Given the description of an element on the screen output the (x, y) to click on. 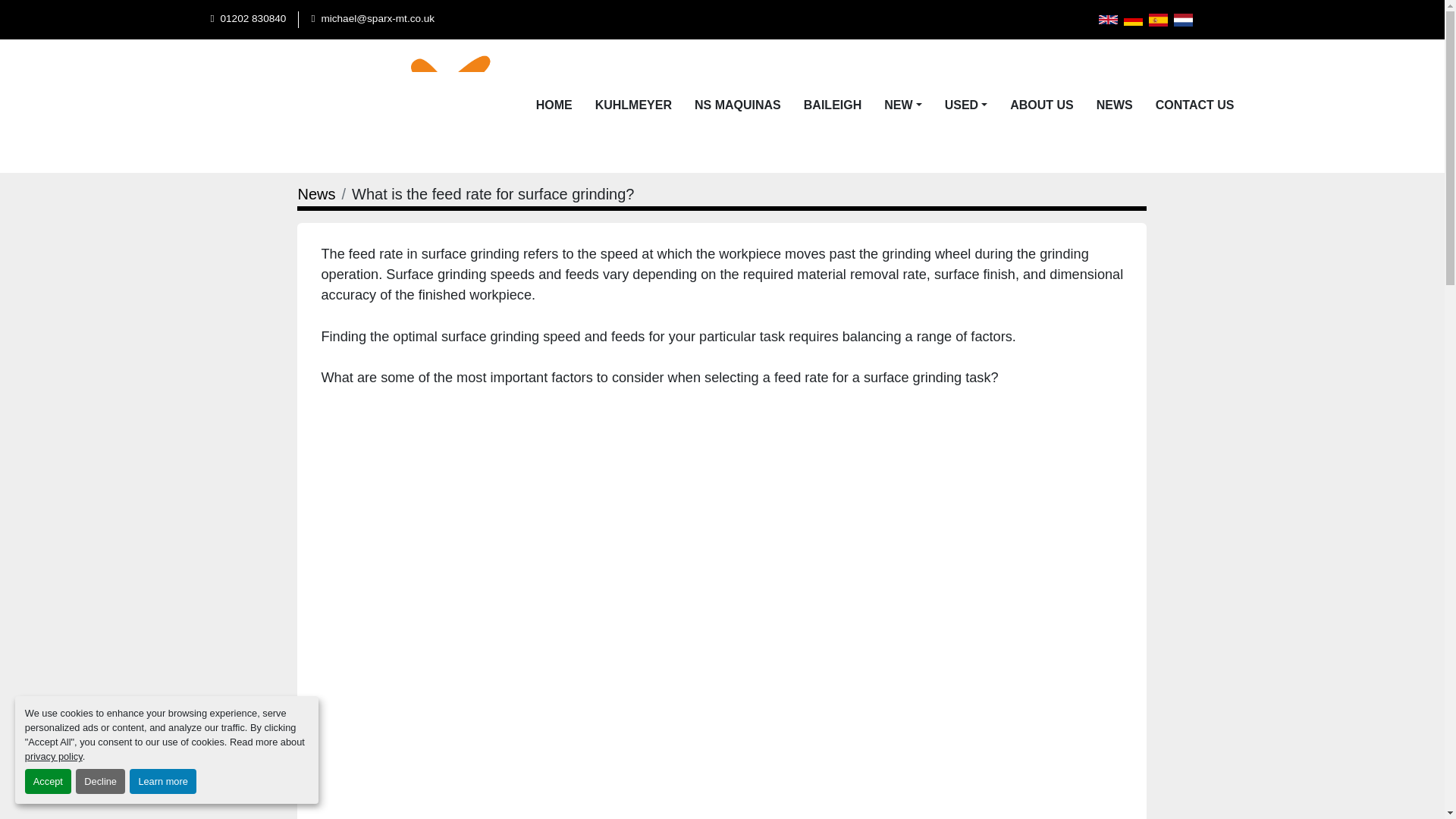
NEW (897, 105)
HOME (553, 105)
Learn more (162, 781)
Decline (100, 781)
USED (961, 105)
01202 830840 (252, 19)
Accept (47, 781)
privacy policy (53, 756)
BAILEIGH (832, 105)
KUHLMEYER (633, 105)
